Given the description of an element on the screen output the (x, y) to click on. 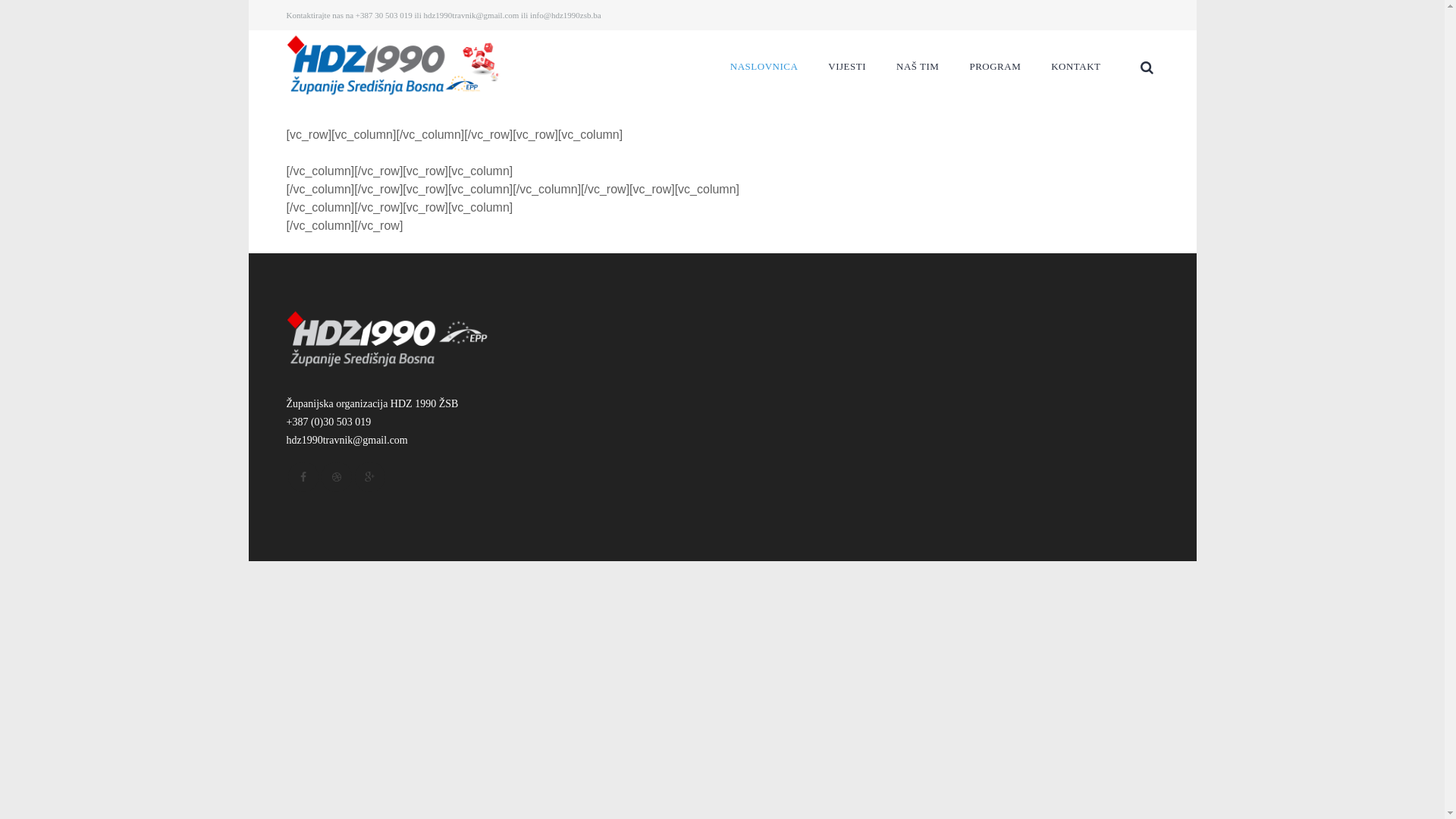
KONTAKT Element type: text (1075, 66)
PROGRAM Element type: text (994, 66)
Open/close search form Element type: hover (1143, 67)
NASLOVNICA Element type: text (764, 66)
VIJESTI Element type: text (846, 66)
